Given the description of an element on the screen output the (x, y) to click on. 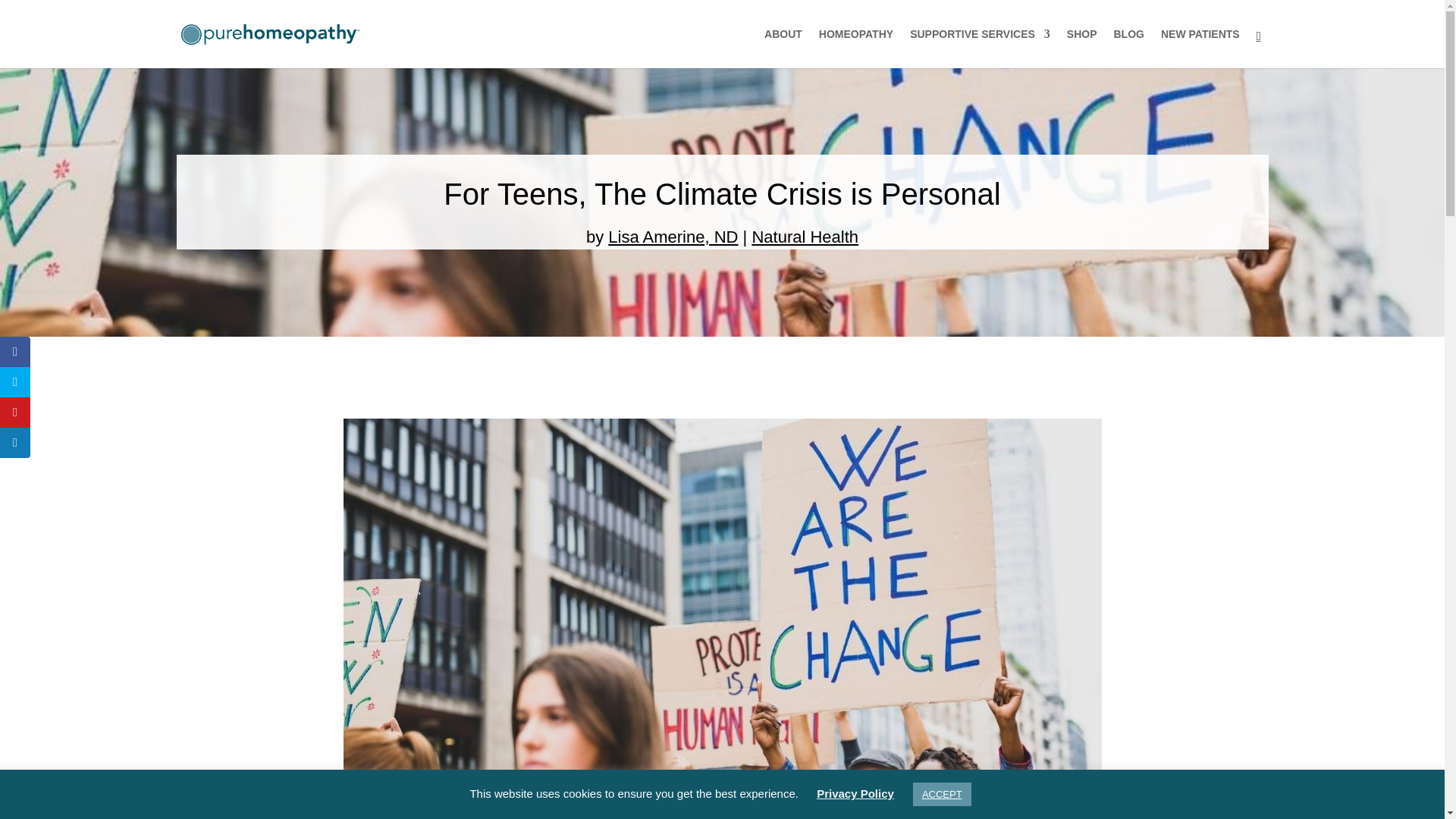
ABOUT (783, 47)
Privacy Policy (854, 793)
ACCEPT (941, 793)
Natural Health (805, 236)
SUPPORTIVE SERVICES (979, 47)
Lisa Amerine, ND (673, 236)
NEW PATIENTS (1200, 47)
HOMEOPATHY (855, 47)
